Given the description of an element on the screen output the (x, y) to click on. 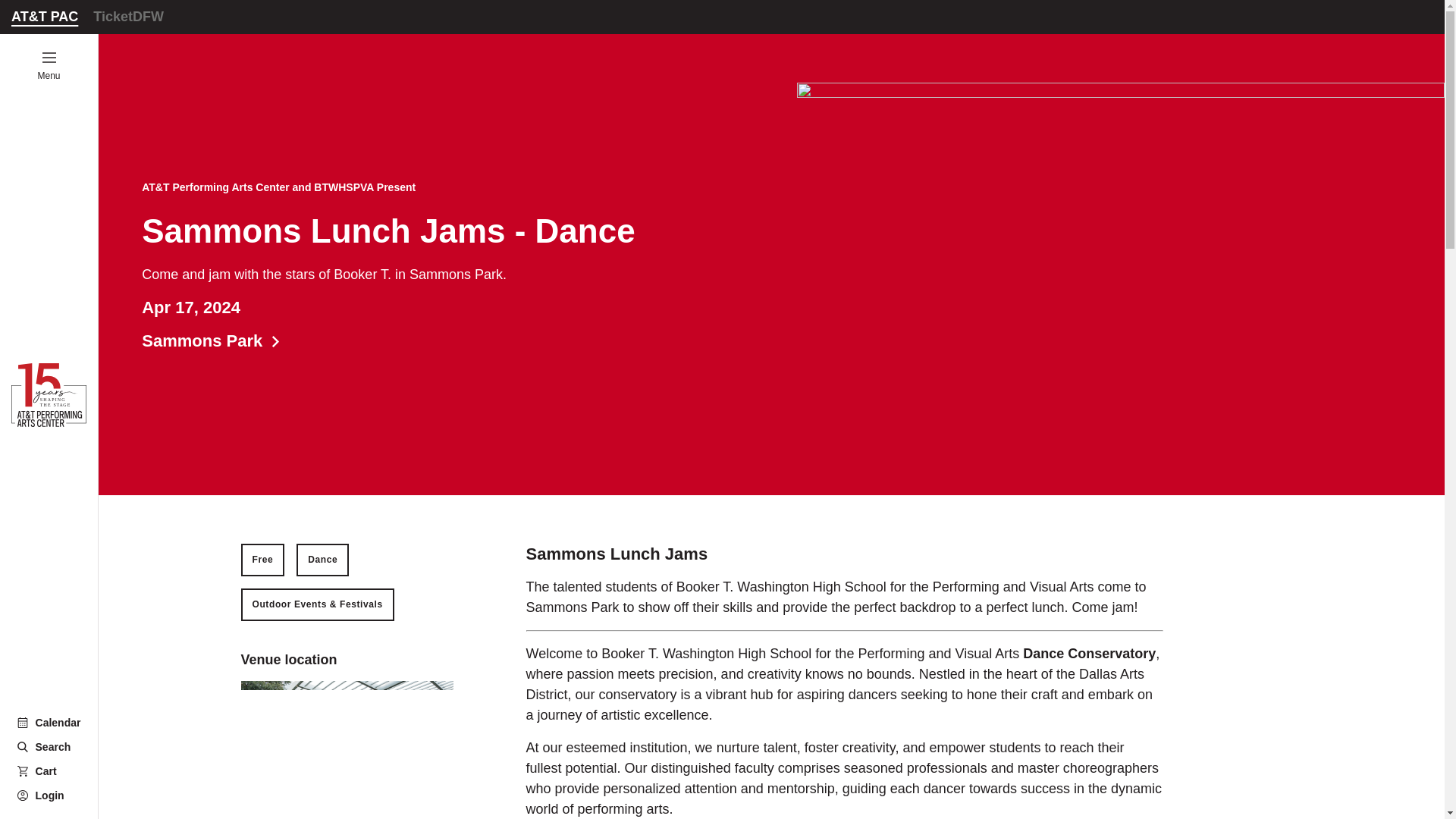
Private Events (35, 281)
Page 1 (844, 778)
Login (48, 66)
Calendar (49, 795)
The Full Experience (49, 722)
Tours (35, 147)
TicketDFW (35, 314)
Ticket Information (128, 16)
Know Before You Go (35, 80)
